Given the description of an element on the screen output the (x, y) to click on. 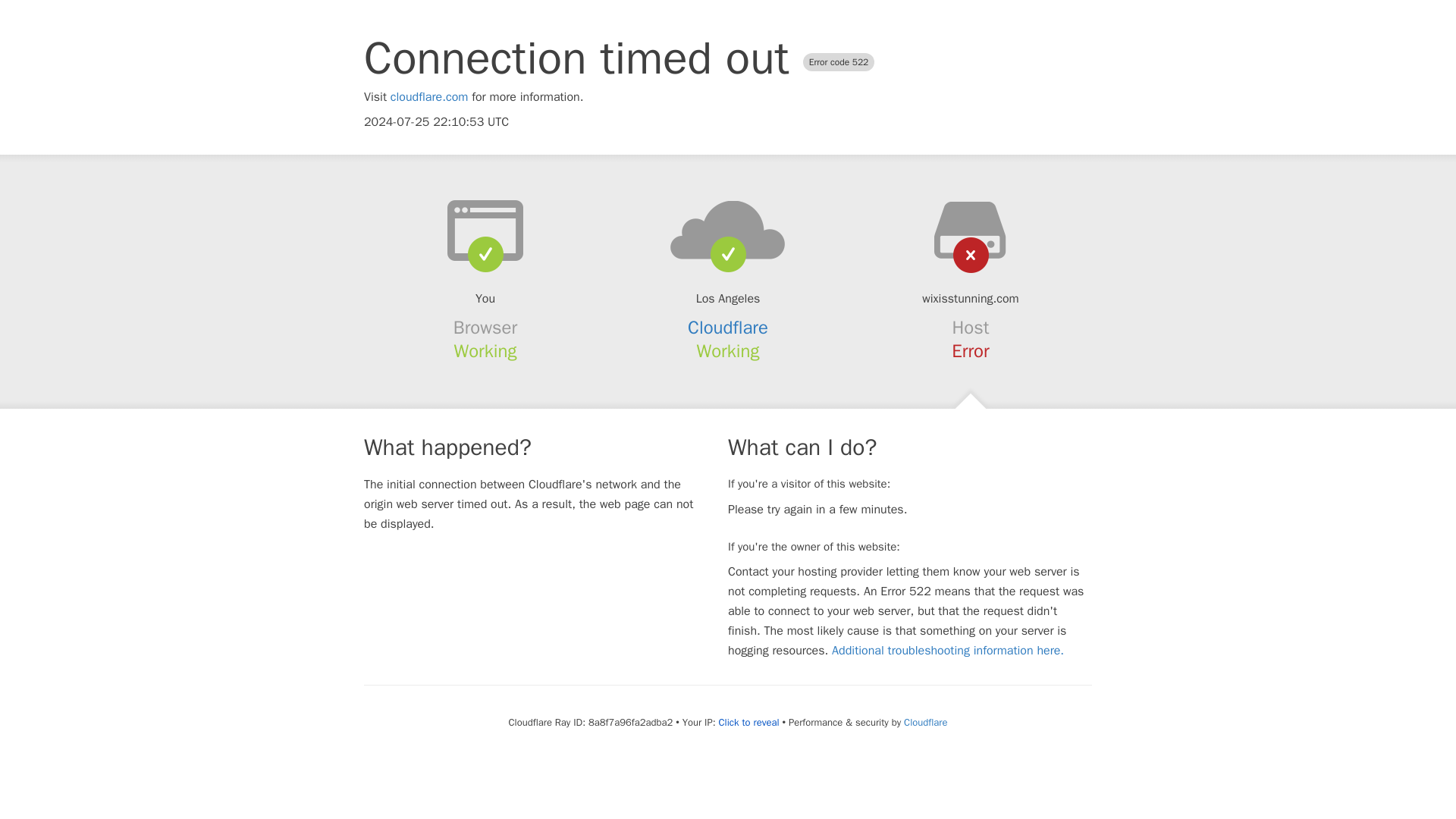
Click to reveal (748, 722)
Additional troubleshooting information here. (947, 650)
cloudflare.com (429, 96)
Cloudflare (727, 327)
Cloudflare (925, 721)
